Given the description of an element on the screen output the (x, y) to click on. 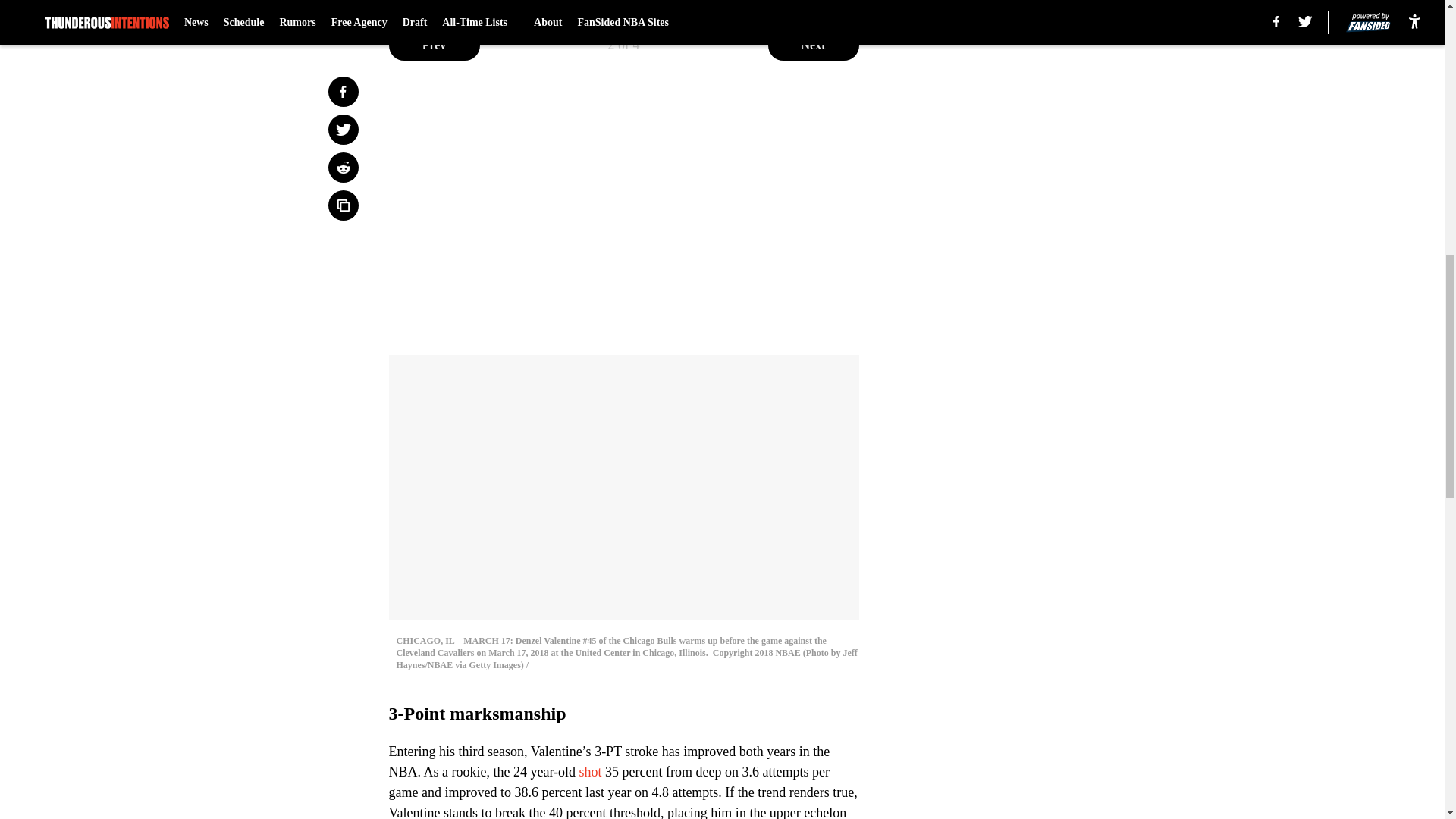
Prev (433, 45)
shot (590, 771)
Next (813, 45)
